Given the description of an element on the screen output the (x, y) to click on. 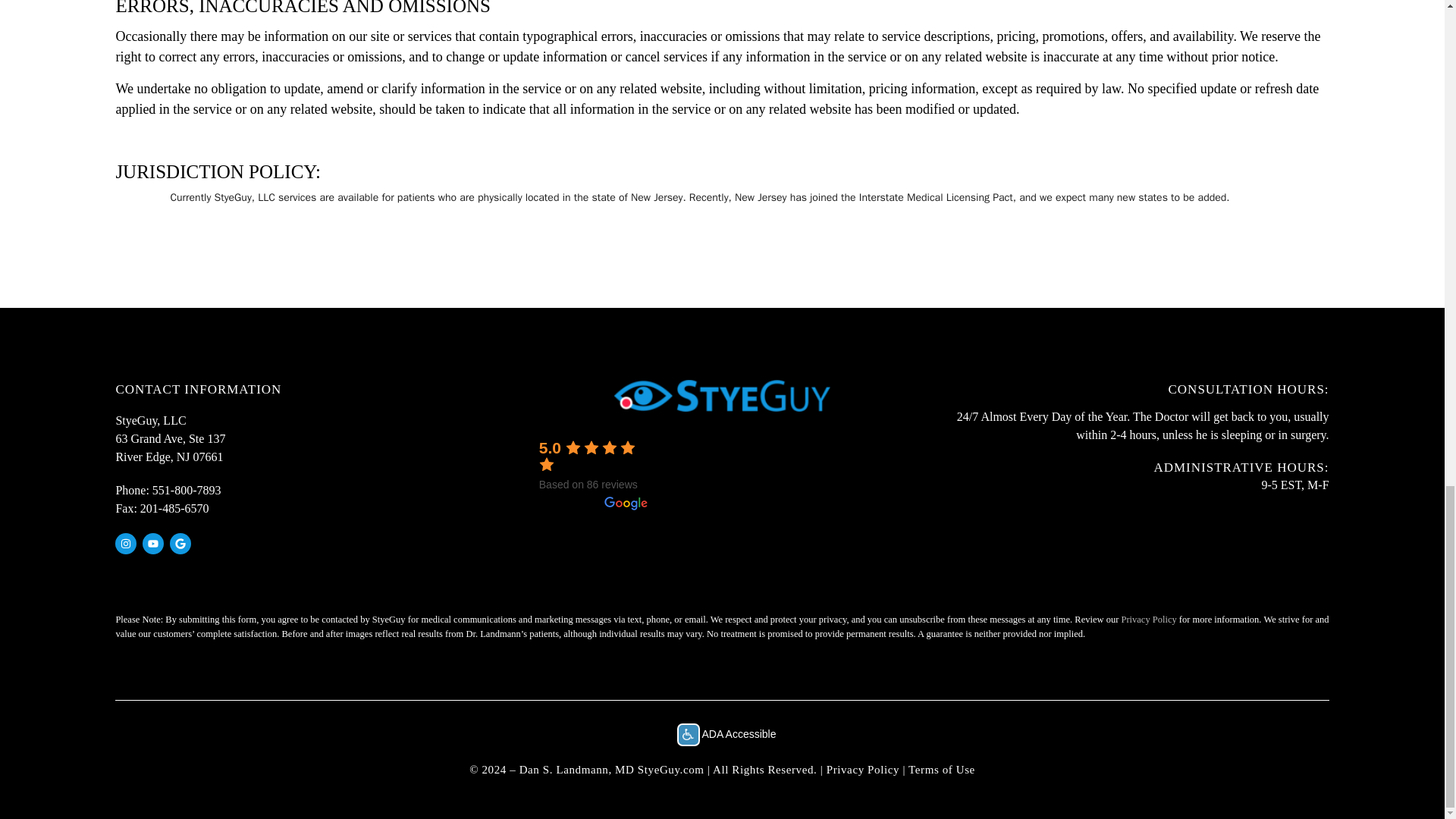
powered by Google (592, 503)
